Given the description of an element on the screen output the (x, y) to click on. 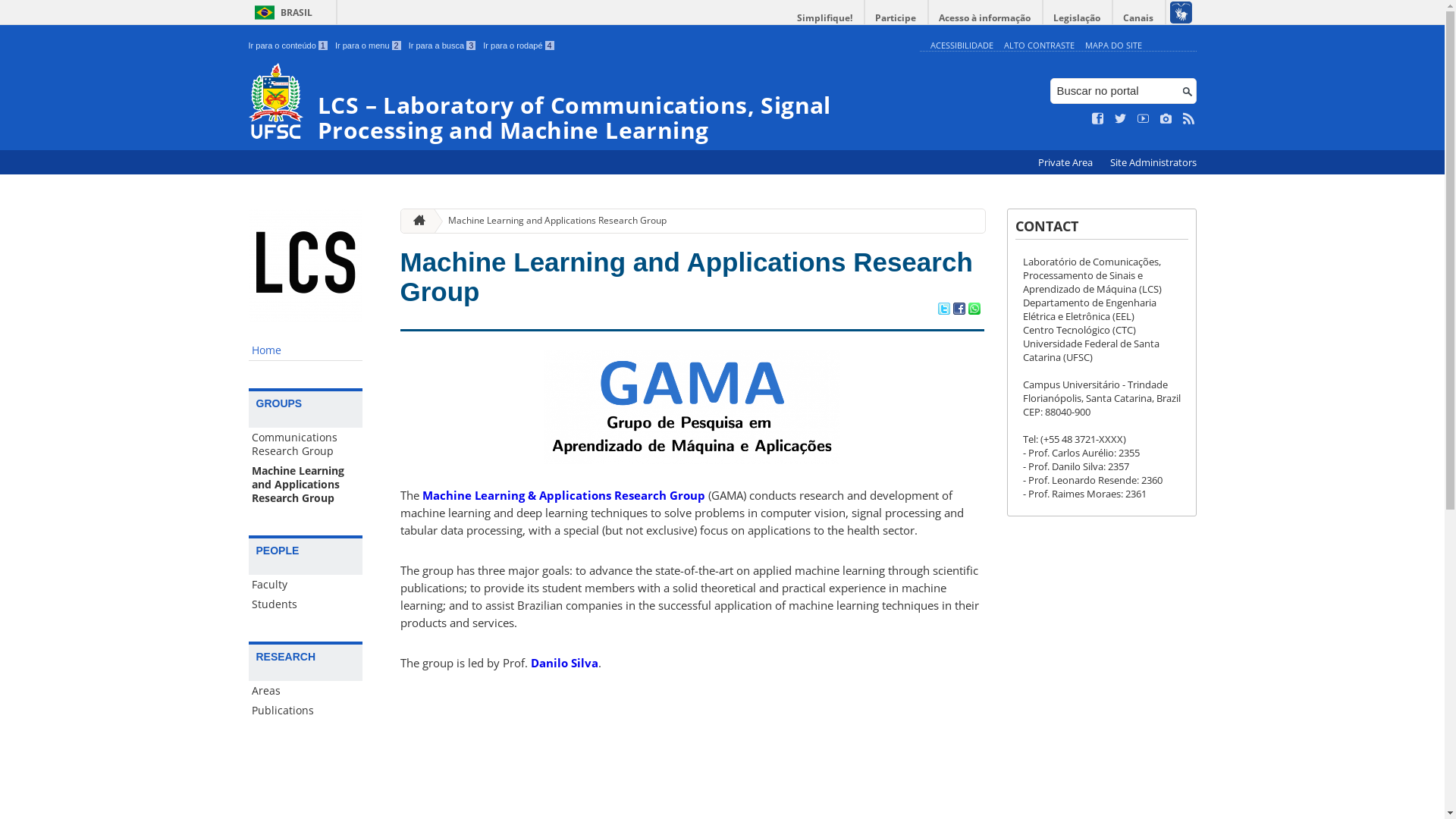
Ir para a busca 3 Element type: text (442, 45)
Machine Learning and Applications Research Group Element type: text (550, 220)
Curta no Facebook Element type: hover (1098, 118)
Areas Element type: text (305, 690)
Compartilhar no WhatsApp Element type: hover (973, 309)
ALTO CONTRASTE Element type: text (1039, 44)
Faculty Element type: text (305, 584)
Participe Element type: text (895, 18)
Compartilhar no Facebook Element type: hover (958, 309)
Site Administrators Element type: text (1153, 162)
Canais Element type: text (1138, 18)
MAPA DO SITE Element type: text (1112, 44)
Ir para o menu 2 Element type: text (368, 45)
Machine Learning and Applications Research Group Element type: text (686, 276)
Machine Learning & Applications Research Group Element type: text (562, 494)
Simplifique! Element type: text (825, 18)
Compartilhar no Twitter Element type: hover (943, 309)
Veja no Instagram Element type: hover (1166, 118)
Students Element type: text (305, 604)
Private Area Element type: text (1065, 162)
Publications Element type: text (305, 710)
Siga no Twitter Element type: hover (1120, 118)
Machine Learning and Applications Research Group Element type: text (305, 484)
BRASIL Element type: text (280, 12)
Home Element type: text (305, 350)
ACESSIBILIDADE Element type: text (960, 44)
Danilo Silva Element type: text (564, 662)
Communications Research Group Element type: text (305, 444)
